Given the description of an element on the screen output the (x, y) to click on. 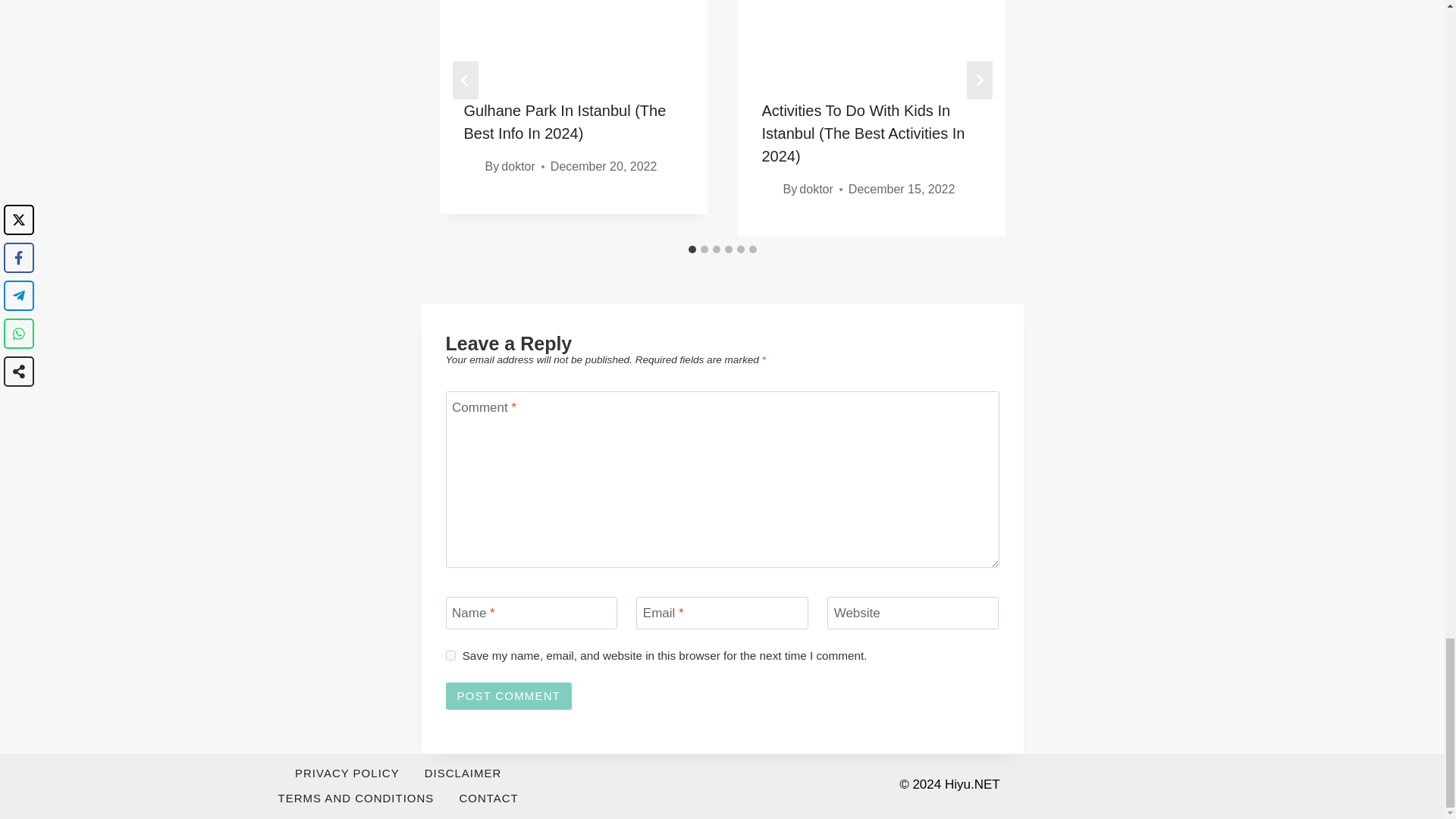
Post Comment (508, 696)
doktor (517, 165)
yes (450, 655)
